Given the description of an element on the screen output the (x, y) to click on. 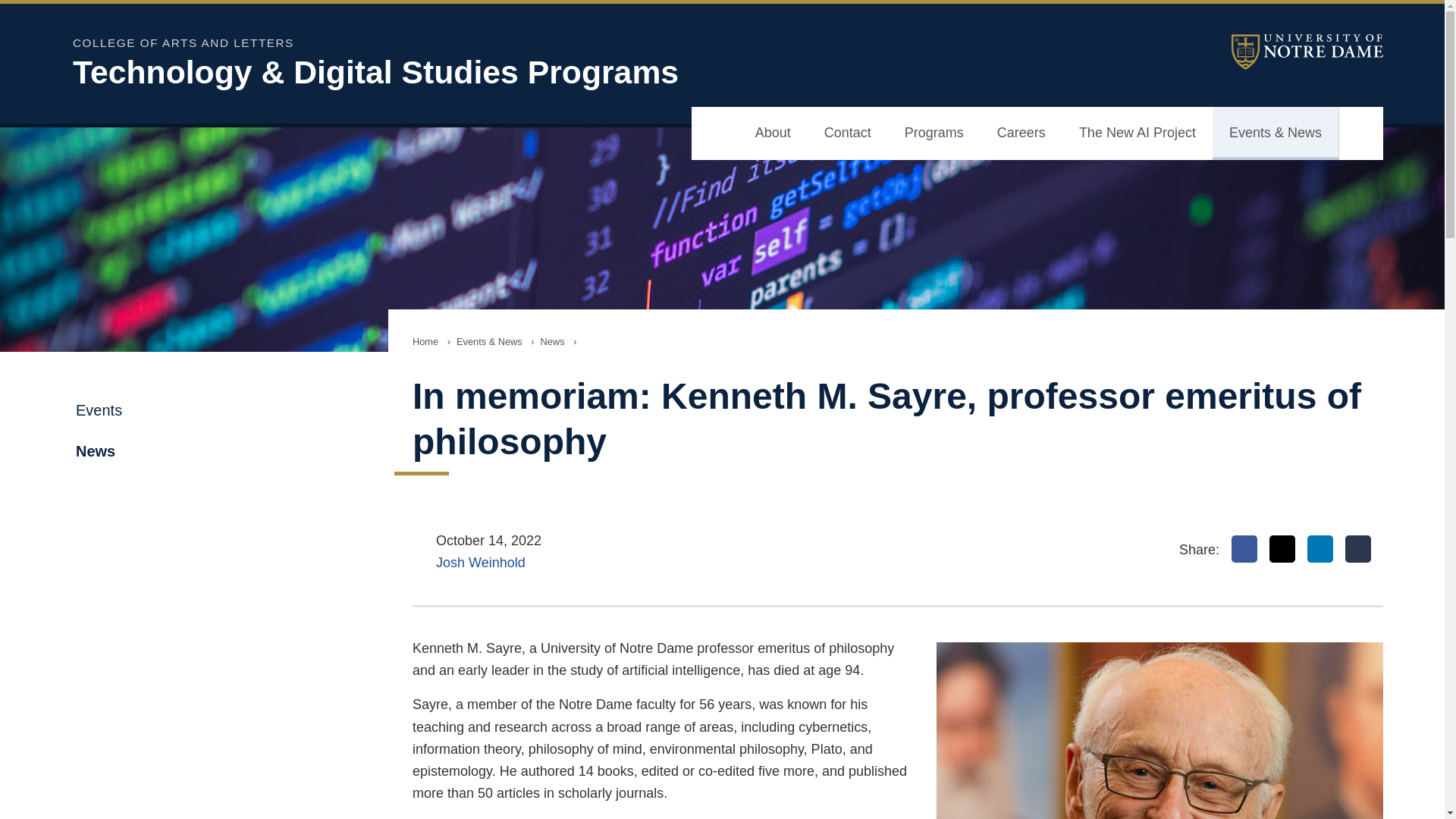
Home (425, 341)
Email (1358, 548)
The New AI Project (1137, 133)
LinkedIn (1320, 548)
Programs (933, 133)
Careers (1020, 133)
Contact (848, 133)
About (773, 133)
Facebook (1244, 548)
University of Notre Dame (1307, 51)
Josh Weinhold (480, 562)
News (552, 341)
